Given the description of an element on the screen output the (x, y) to click on. 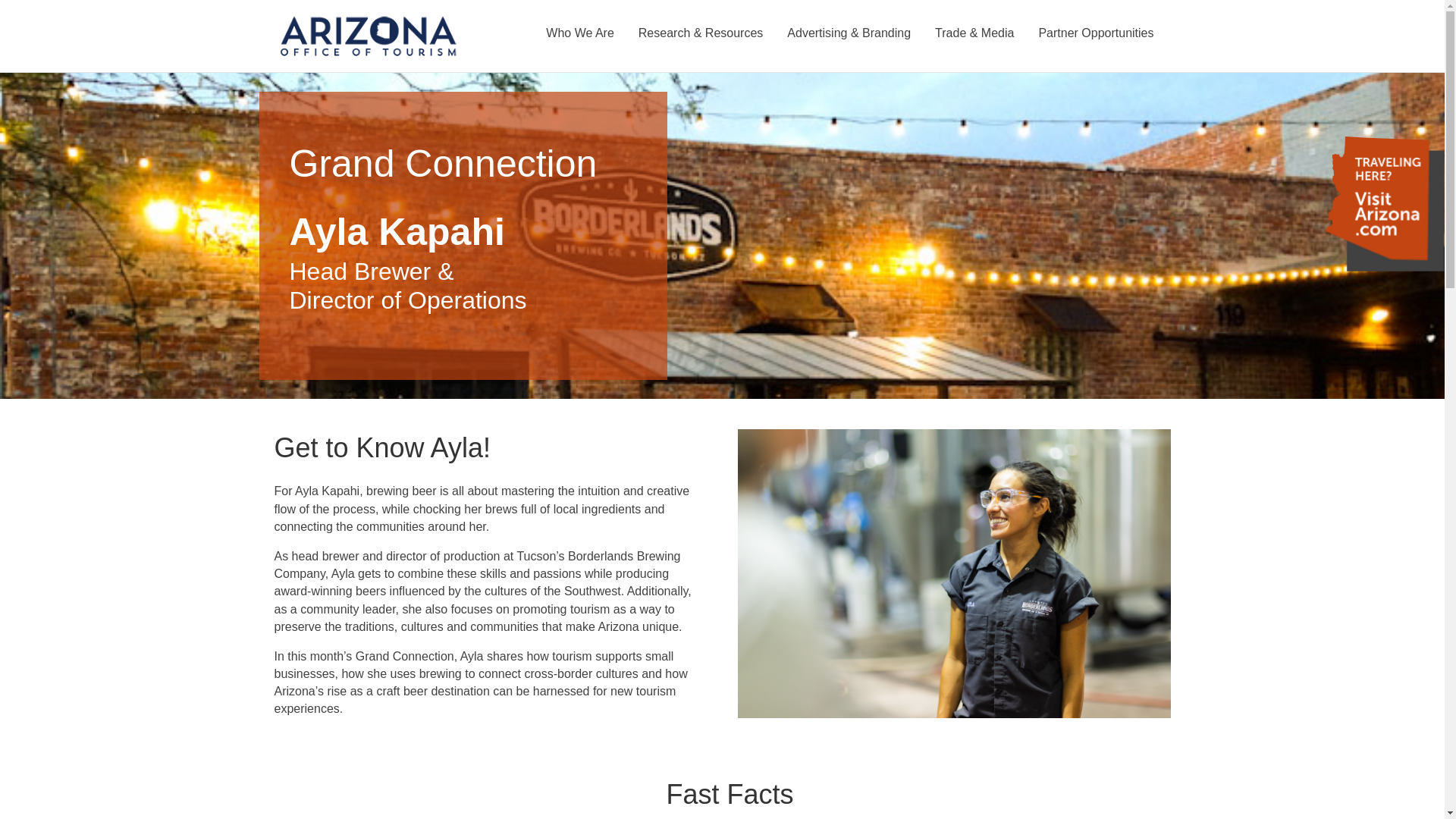
Who We Are (580, 33)
Partner Opportunities (1096, 33)
Ayla Kapahi (953, 573)
